Given the description of an element on the screen output the (x, y) to click on. 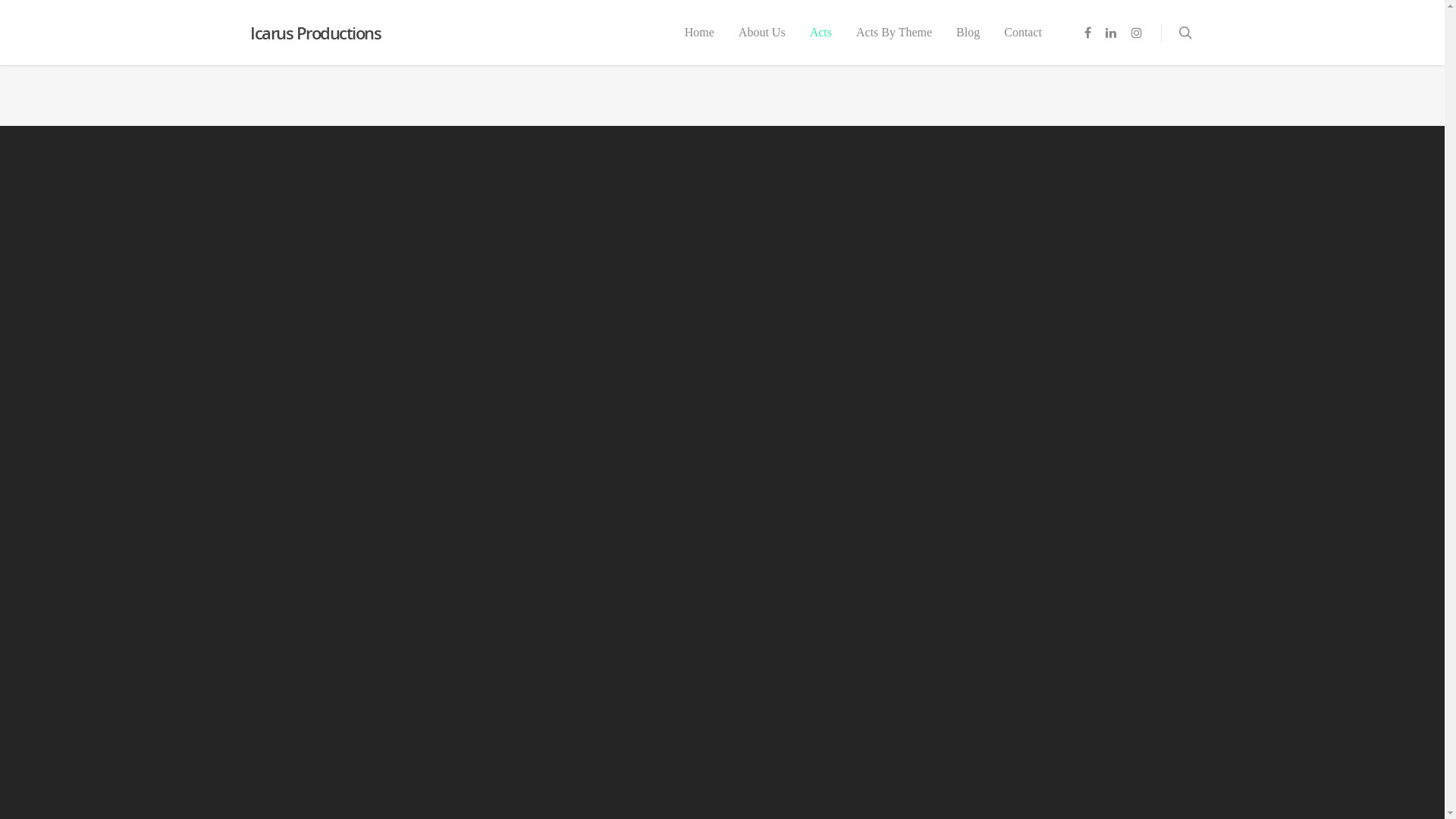
Acts Element type: text (820, 43)
Icarus Productions Element type: text (315, 32)
Home Element type: text (699, 43)
About Us Element type: text (762, 43)
Acts By Theme Element type: text (893, 43)
Blog Element type: text (967, 43)
Contact Element type: text (1022, 43)
